Given the description of an element on the screen output the (x, y) to click on. 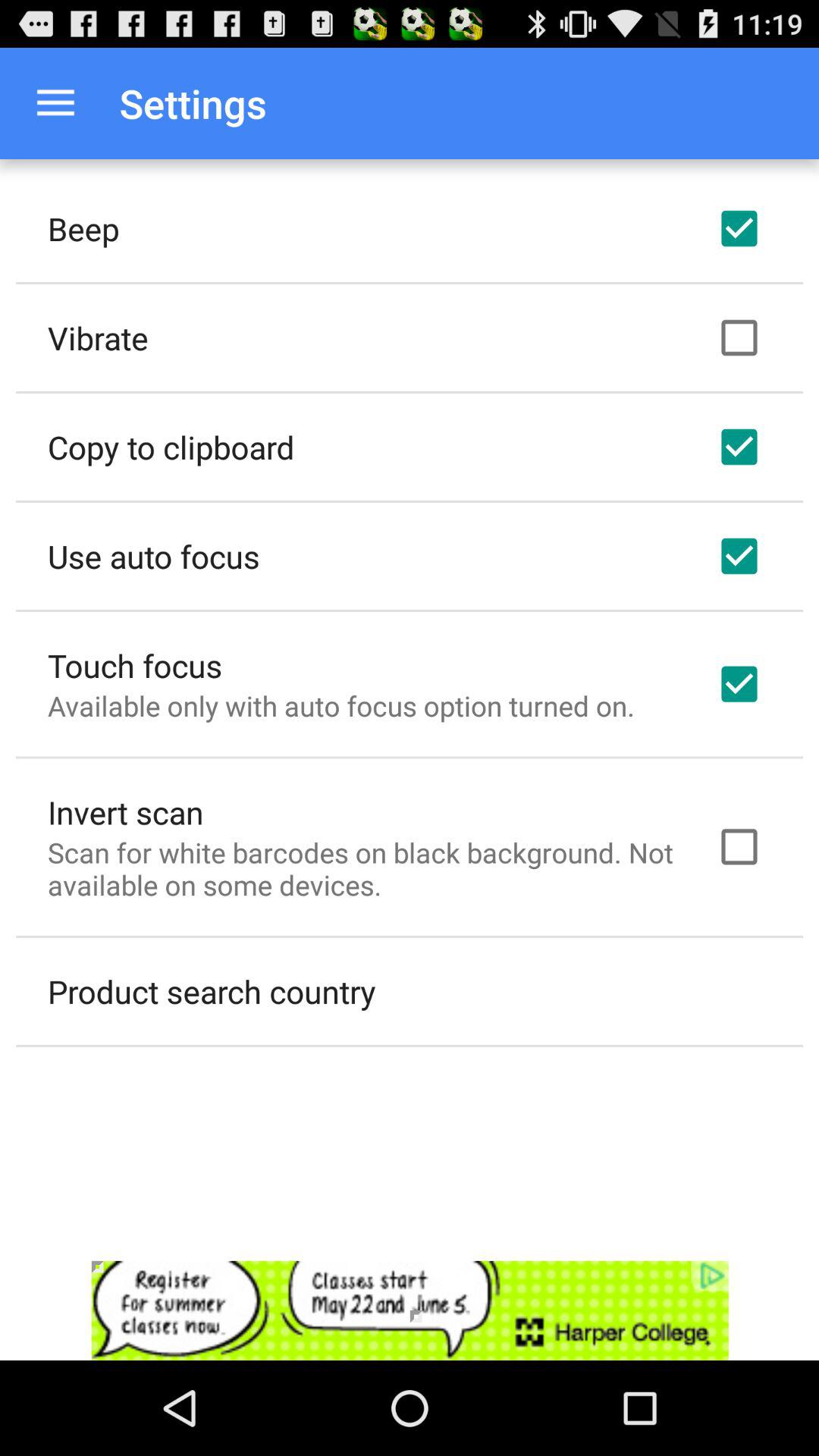
open advertisement (409, 1310)
